Given the description of an element on the screen output the (x, y) to click on. 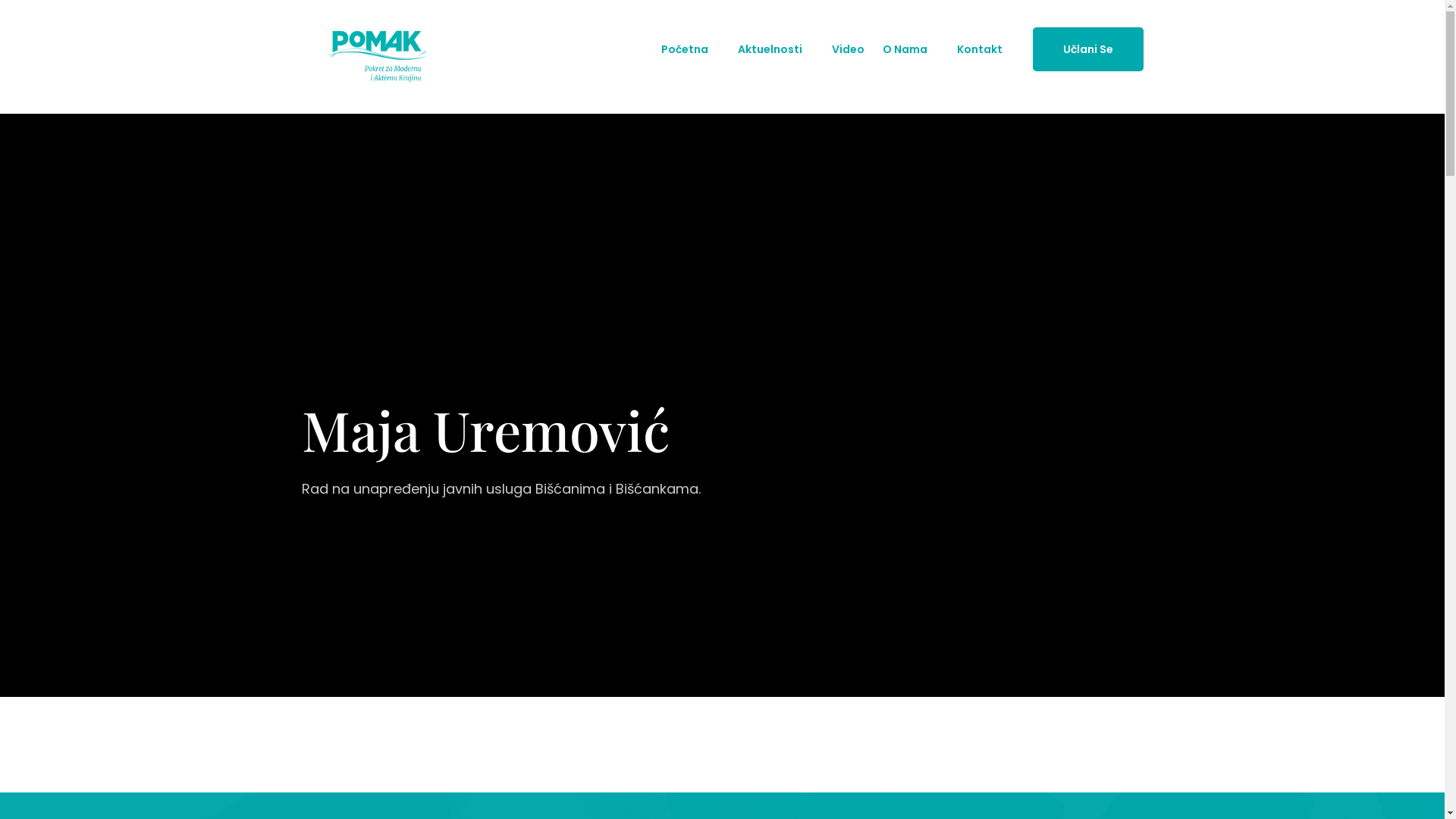
Kontakt Element type: text (979, 48)
Aktuelnosti Element type: text (769, 48)
Video Element type: text (847, 48)
O Nama Element type: text (904, 48)
